Given the description of an element on the screen output the (x, y) to click on. 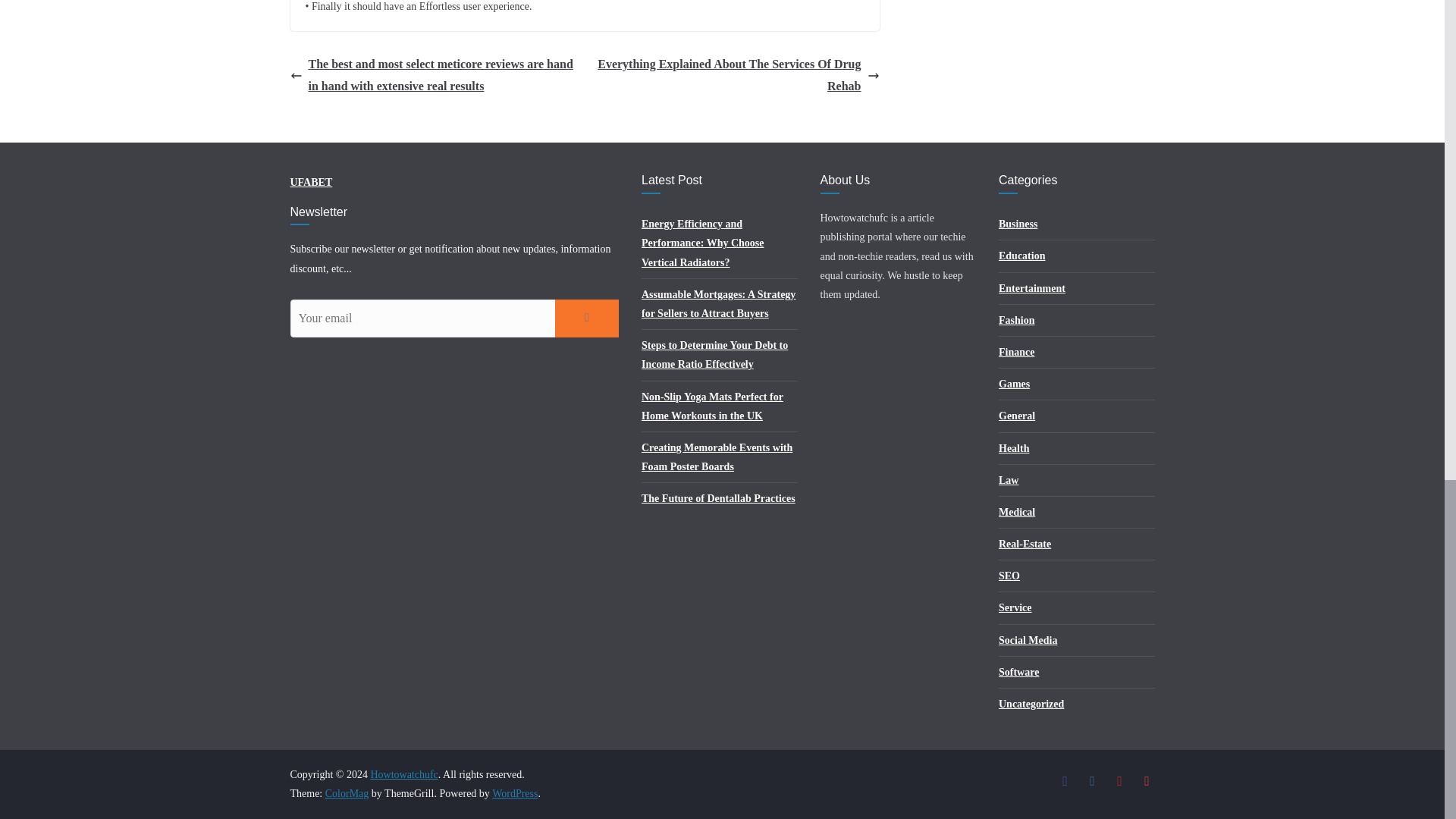
Software (1018, 672)
The Future of Dentallab Practices (718, 498)
Fashion (1015, 319)
ColorMag (346, 793)
Medical (1016, 511)
Everything Explained About The Services Of Drug Rehab (735, 75)
Social Media (1027, 640)
Service (1015, 607)
Health (1013, 448)
Creating Memorable Events with Foam Poster Boards (717, 457)
Finance (1015, 351)
Entertainment (1031, 288)
Games (1013, 383)
